Given the description of an element on the screen output the (x, y) to click on. 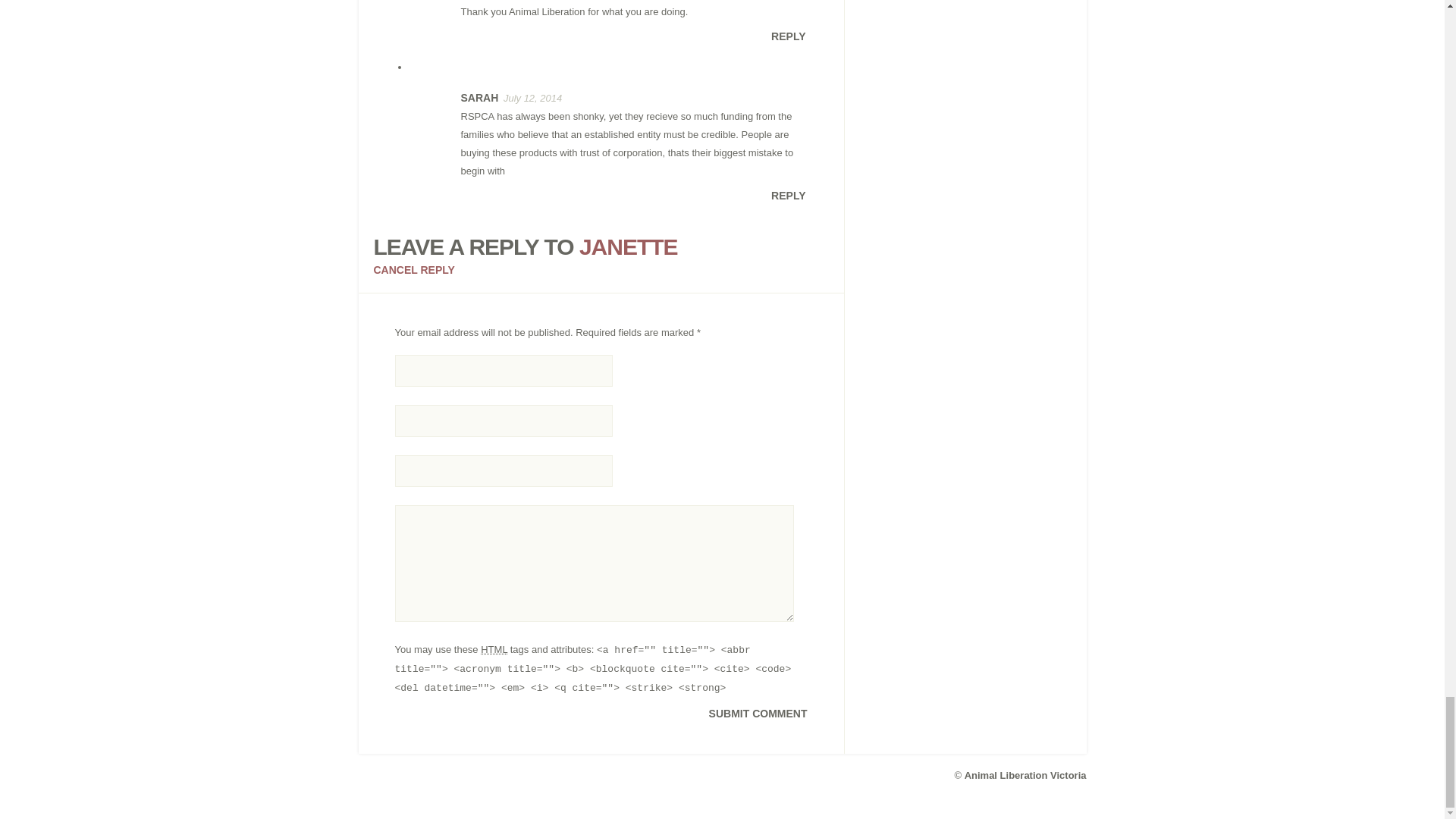
HyperText Markup Language (493, 649)
Submit Comment (758, 713)
Animal Liberation Victoria (1024, 775)
